Given the description of an element on the screen output the (x, y) to click on. 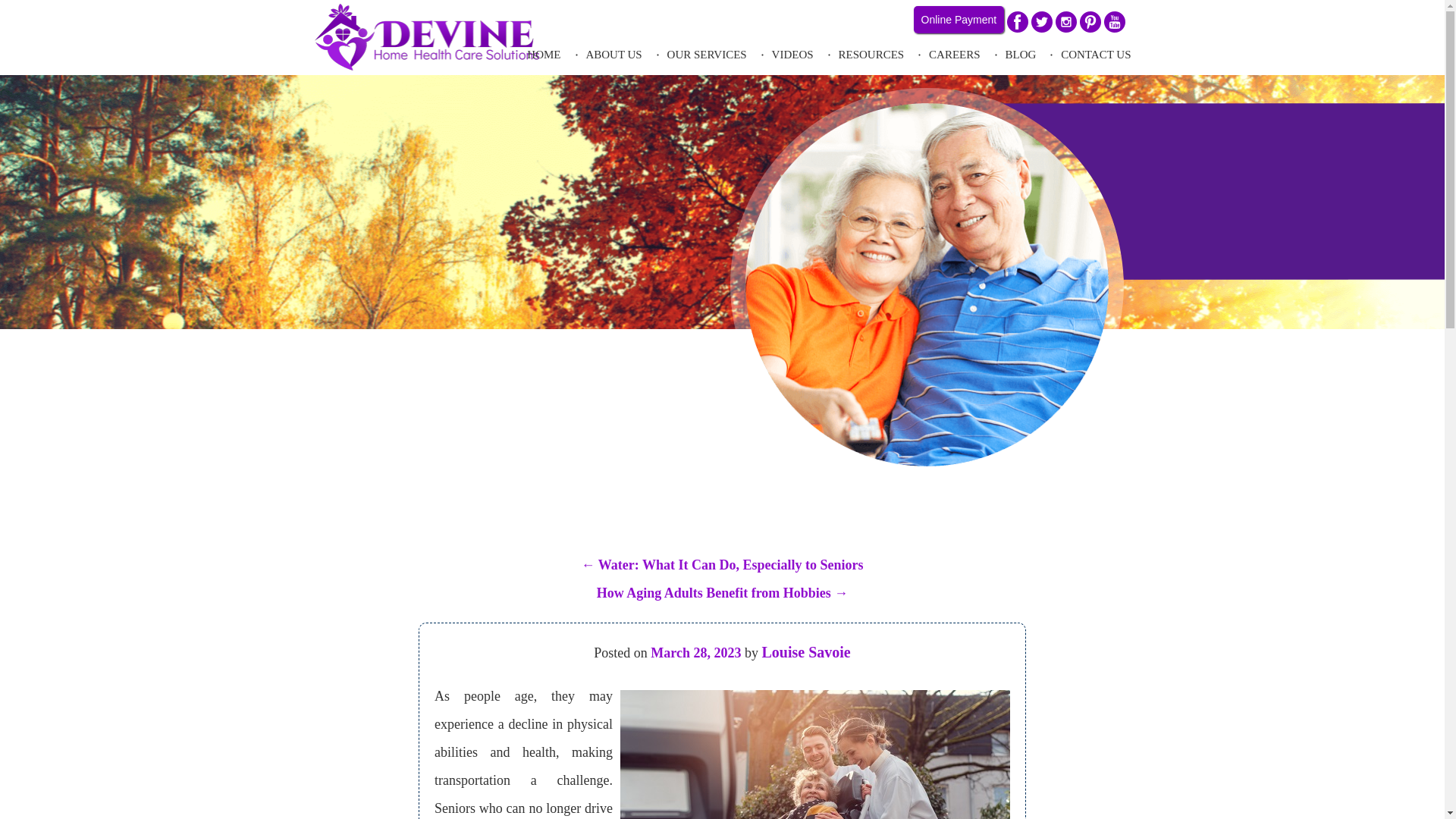
OUR SERVICES (706, 62)
CAREERS (953, 62)
RESOURCES (871, 62)
March 28, 2023 (695, 652)
ABOUT US (613, 62)
VIDEOS (792, 62)
Louise Savoie (805, 651)
BLOG (1019, 62)
View all posts by Louise Savoie (805, 651)
12:00 am (695, 652)
